Given the description of an element on the screen output the (x, y) to click on. 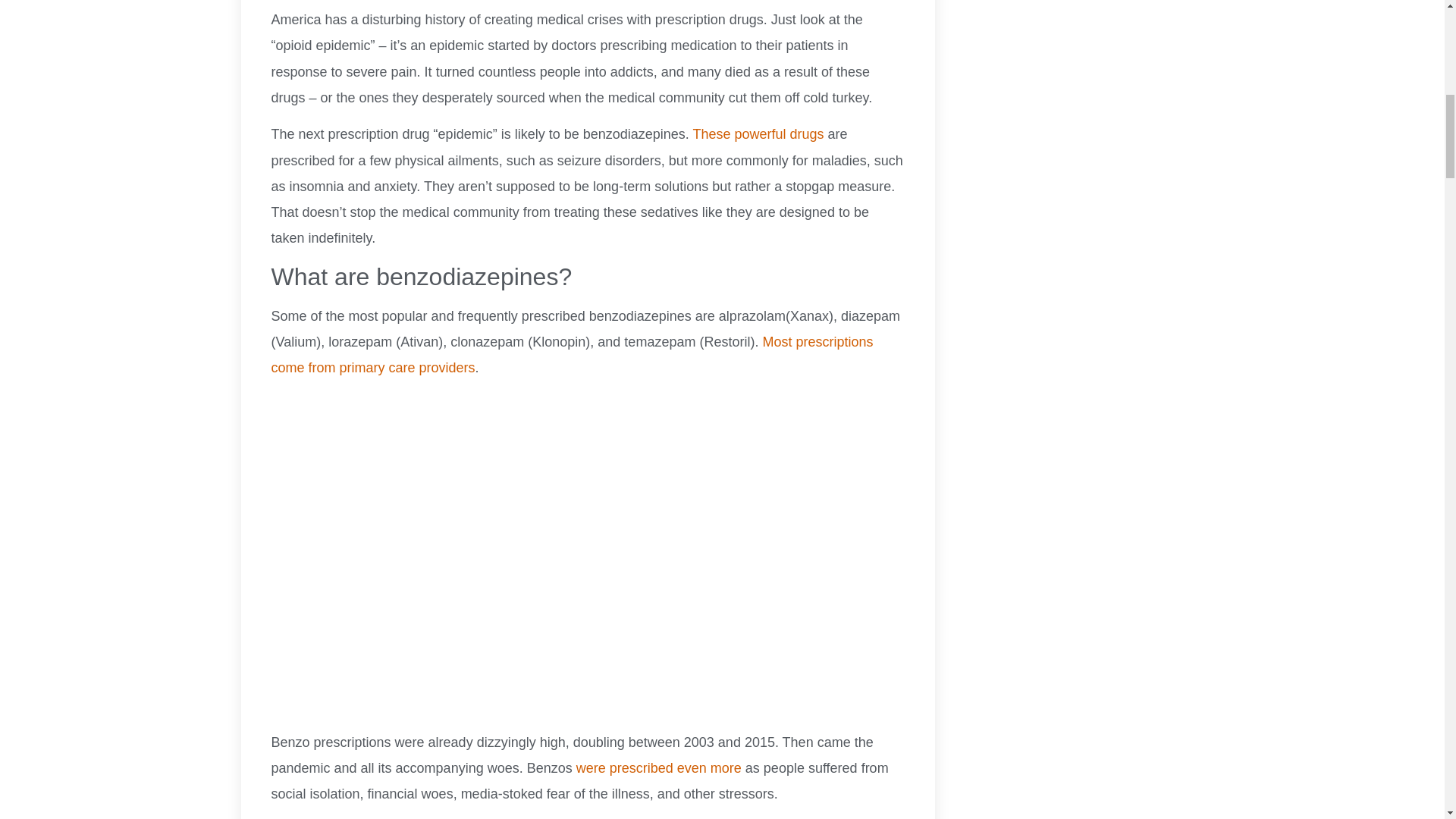
Most prescriptions come from primary care providers (571, 354)
These powerful drugs (758, 133)
were prescribed even more (658, 767)
